Given the description of an element on the screen output the (x, y) to click on. 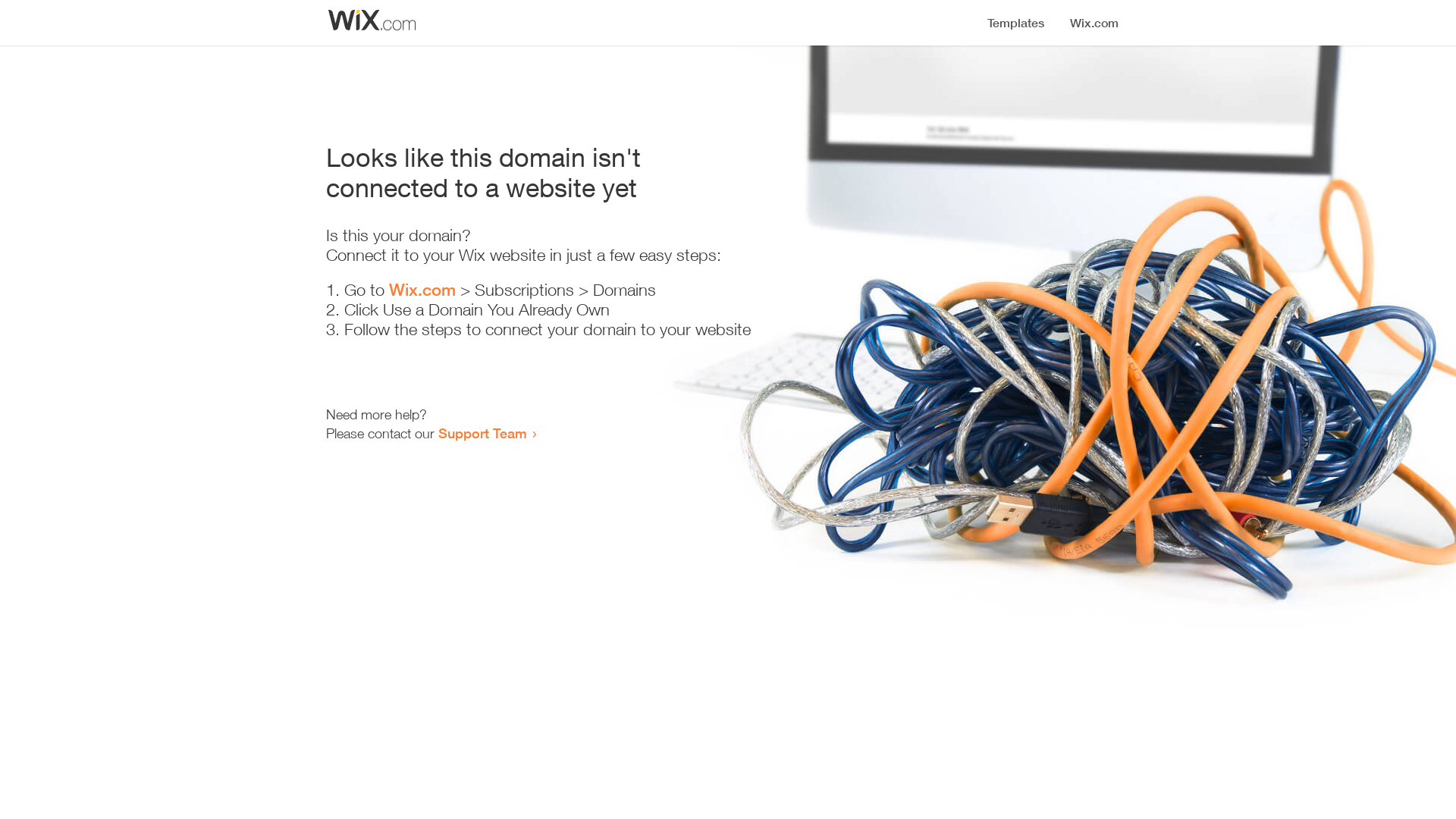
Wix.com Element type: text (422, 289)
Support Team Element type: text (482, 432)
